Given the description of an element on the screen output the (x, y) to click on. 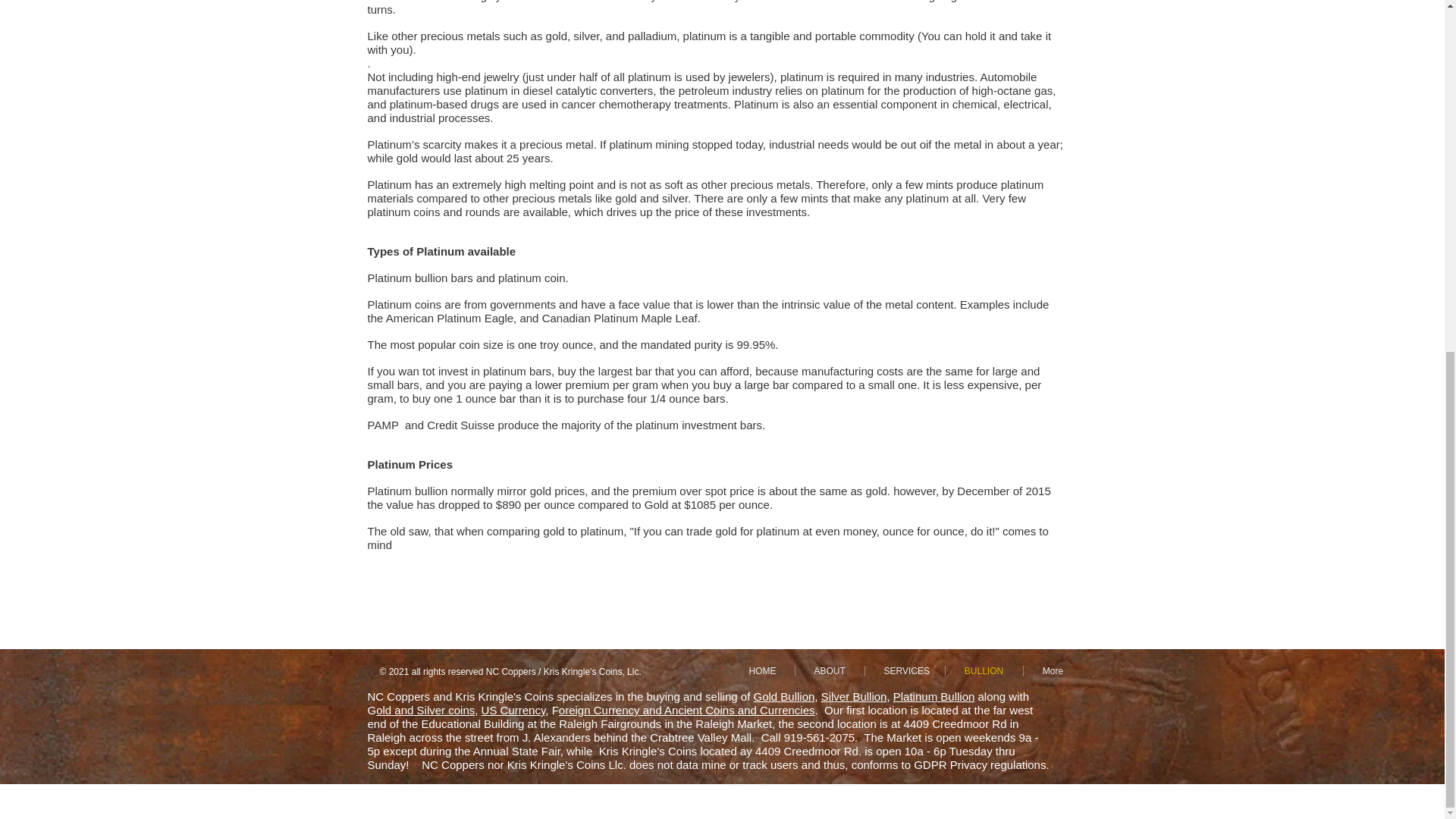
HOME (761, 670)
